Given the description of an element on the screen output the (x, y) to click on. 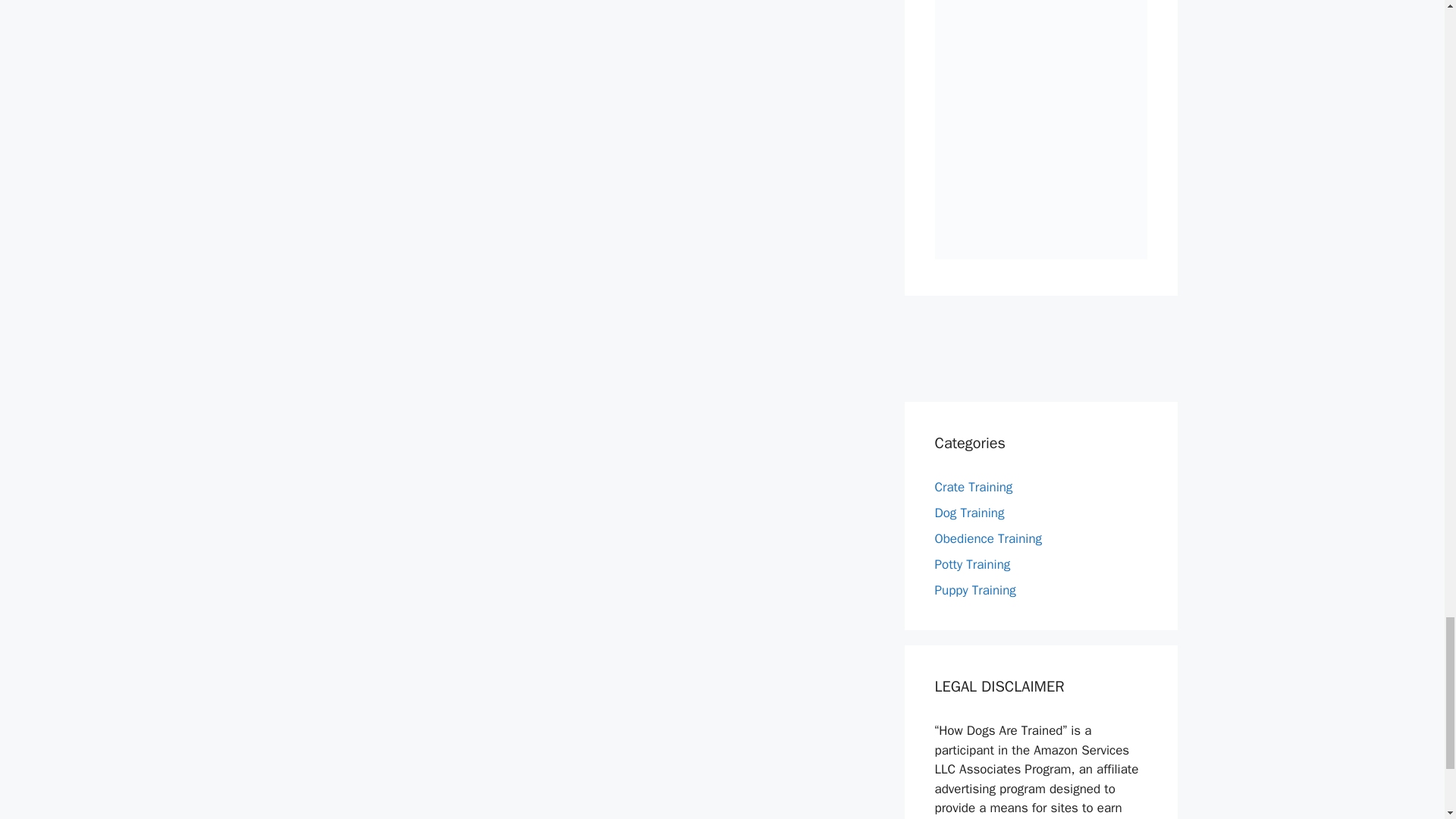
Potty Training (972, 564)
Dog Training (969, 512)
Obedience Training (988, 538)
Crate Training (972, 487)
Puppy Training (974, 590)
